Given the description of an element on the screen output the (x, y) to click on. 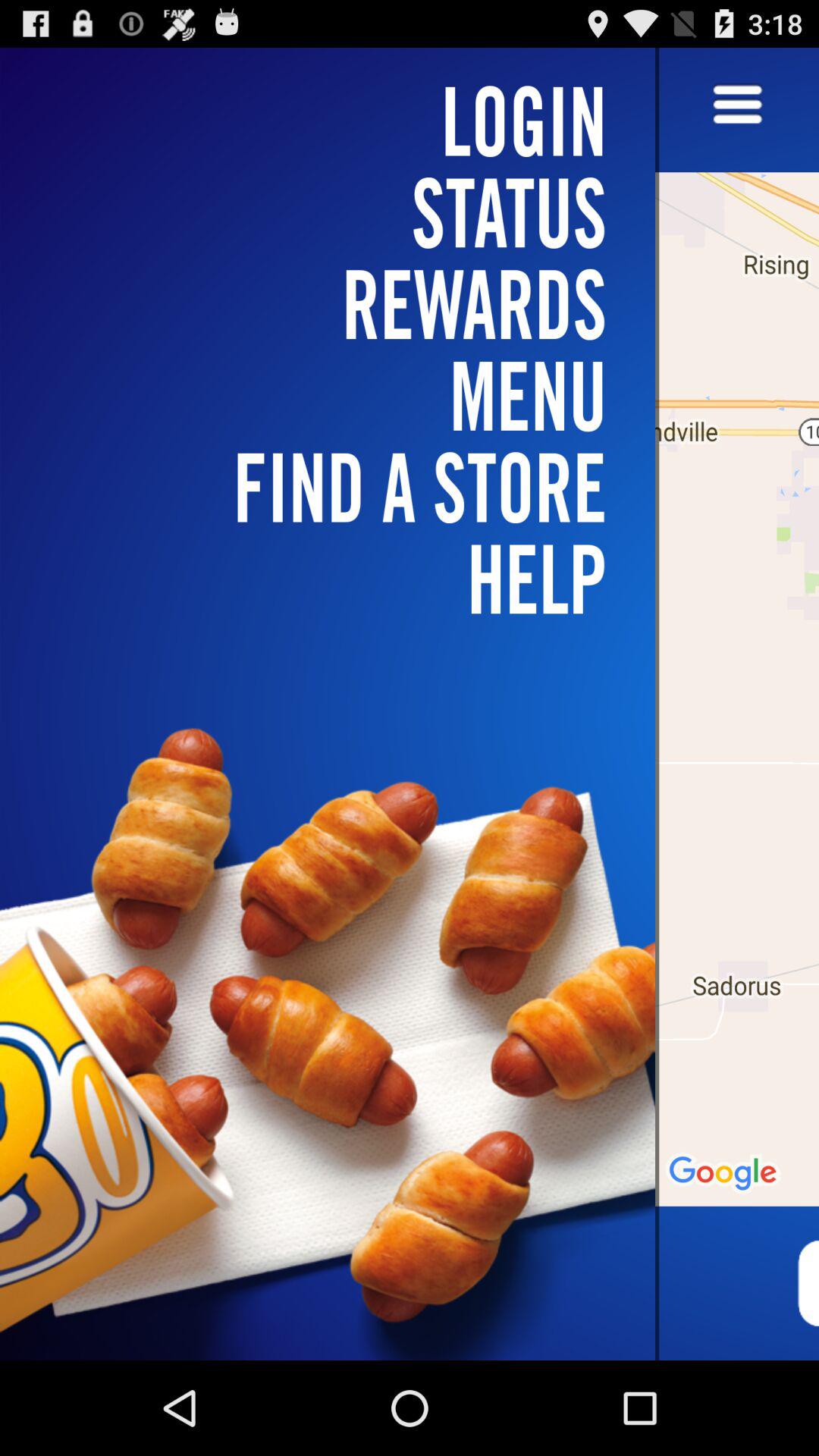
swipe until status icon (336, 212)
